Given the description of an element on the screen output the (x, y) to click on. 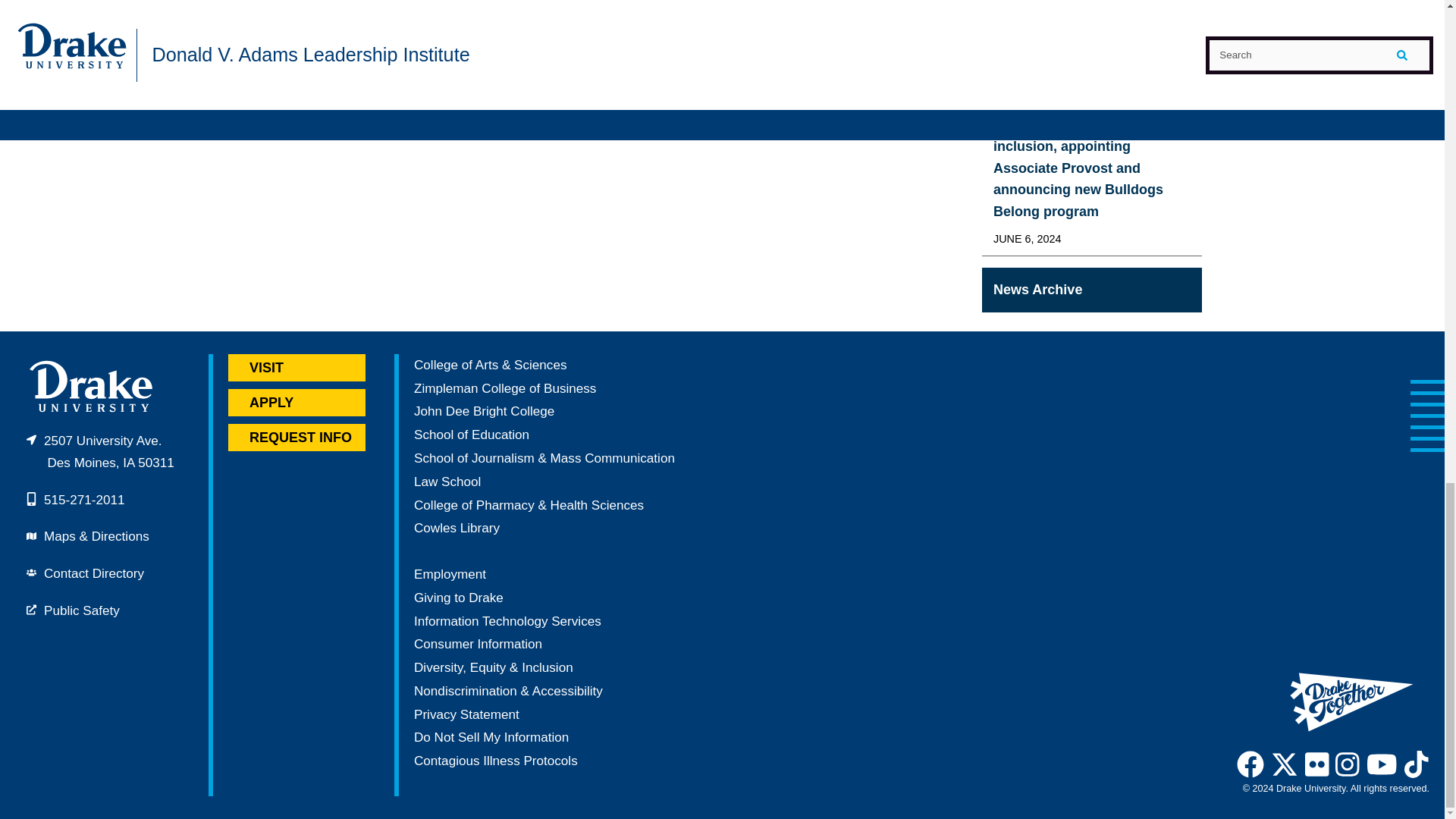
2507 University Ave (100, 452)
Contact Directory (93, 573)
Make a financial contribution to Drake University (458, 597)
Public Safety (81, 610)
